Given the description of an element on the screen output the (x, y) to click on. 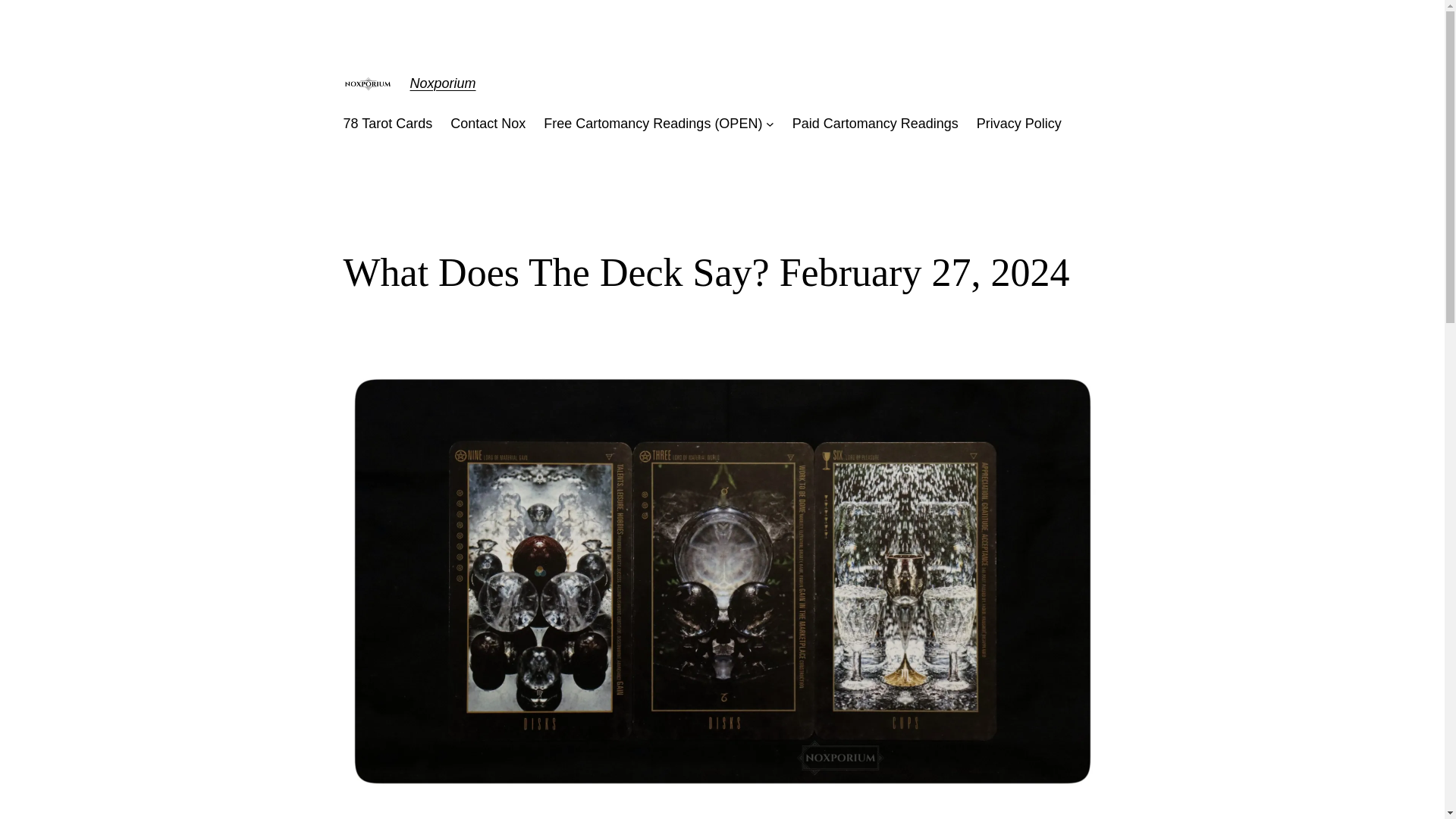
78 Tarot Cards (387, 124)
Paid Cartomancy Readings (875, 124)
Contact Nox (487, 124)
Noxporium (442, 83)
Privacy Policy (1018, 124)
